Given the description of an element on the screen output the (x, y) to click on. 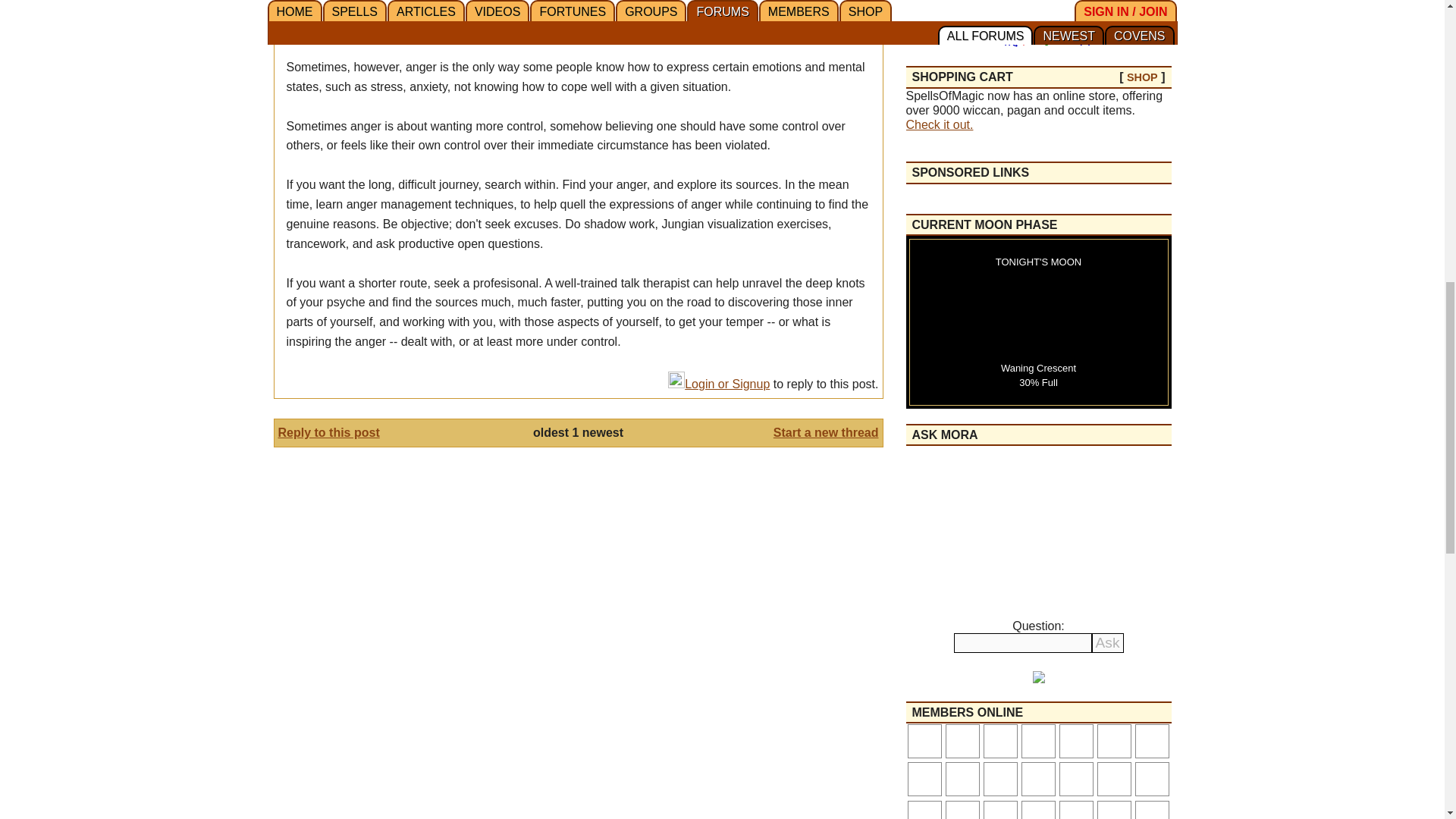
Ask (1108, 642)
